Given the description of an element on the screen output the (x, y) to click on. 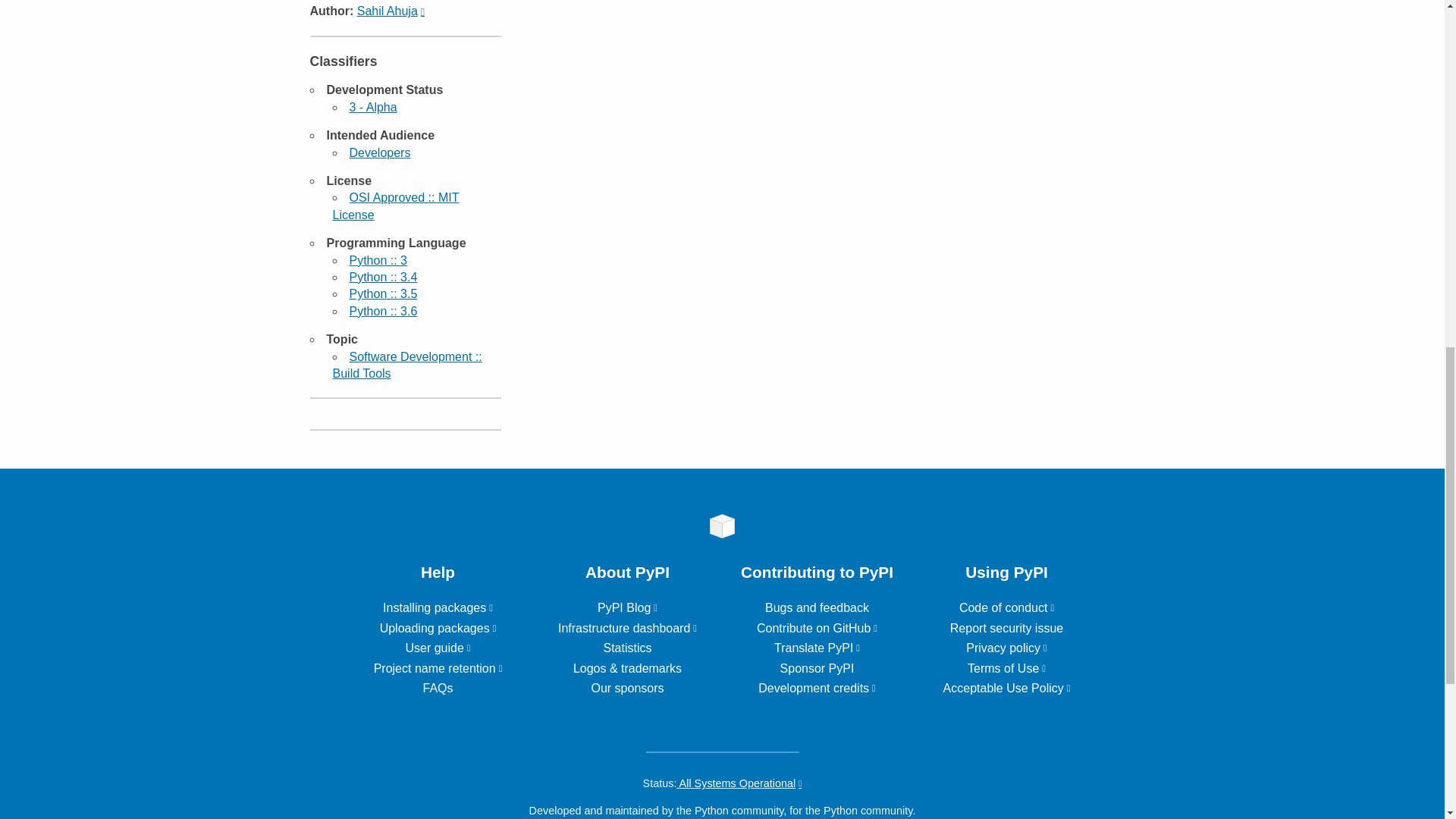
OSI Approved :: MIT License (394, 205)
External link (438, 627)
Developers (379, 152)
Python :: 3.6 (382, 310)
Sahil Ahuja (390, 10)
Python :: 3.5 (382, 293)
External link (437, 607)
External link (437, 647)
Software Development :: Build Tools (406, 365)
3 - Alpha (372, 106)
Python :: 3 (378, 259)
External link (438, 667)
Python :: 3.4 (382, 277)
